Given the description of an element on the screen output the (x, y) to click on. 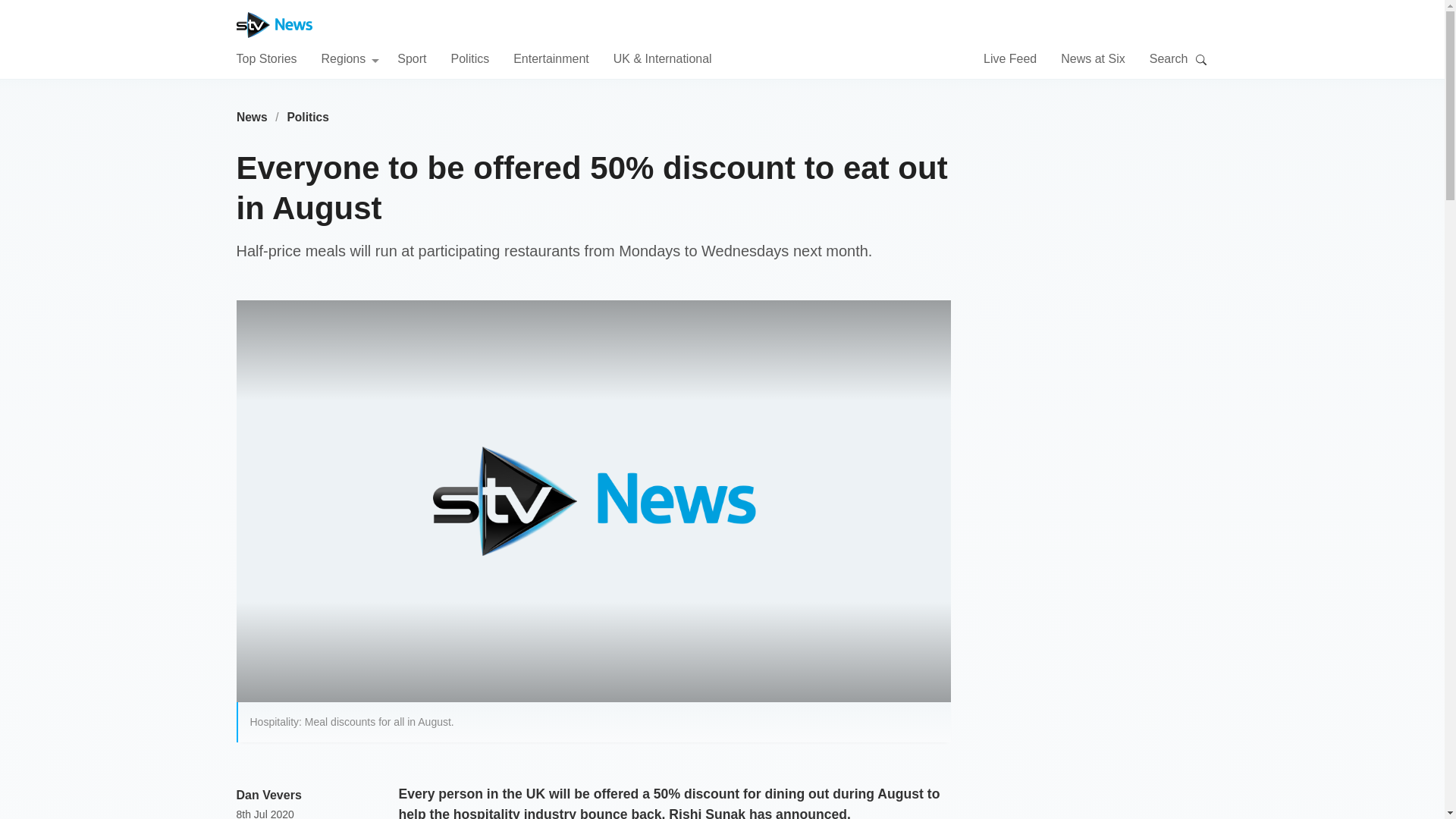
Politics (469, 57)
Politics (307, 116)
News at Six (1092, 57)
Dan Vevers (268, 794)
Live Feed (1010, 57)
Top Stories (266, 57)
Regions (350, 57)
News (252, 116)
Search (1201, 59)
Entertainment (551, 57)
